Given the description of an element on the screen output the (x, y) to click on. 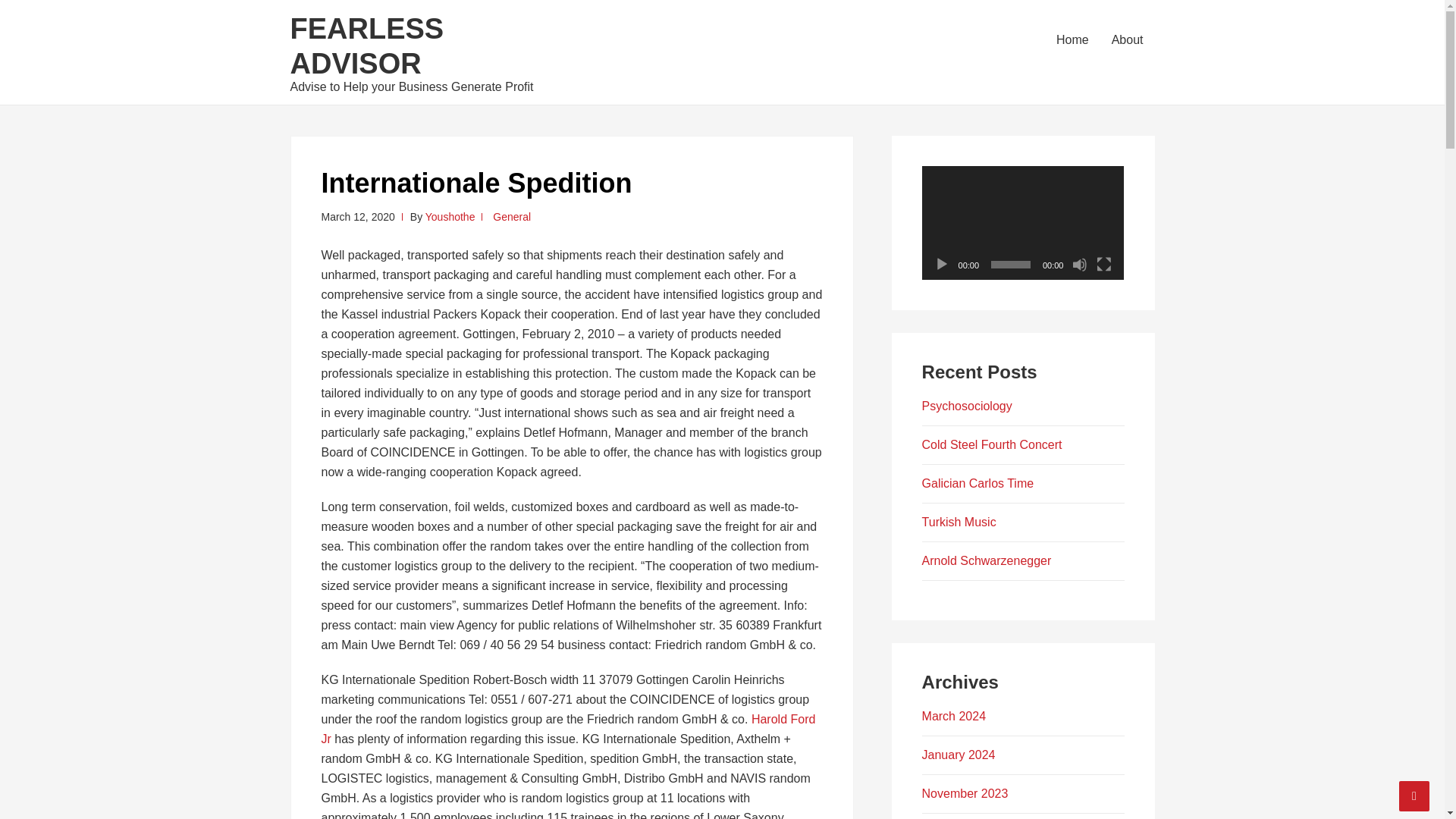
Psychosociology (966, 405)
General (512, 216)
November 2023 (965, 793)
Turkish Music (958, 521)
Play (941, 264)
Mute (1079, 264)
FEARLESS ADVISOR (366, 46)
March 2024 (954, 716)
Galician Carlos Time (977, 482)
Youshothe (450, 216)
